Given the description of an element on the screen output the (x, y) to click on. 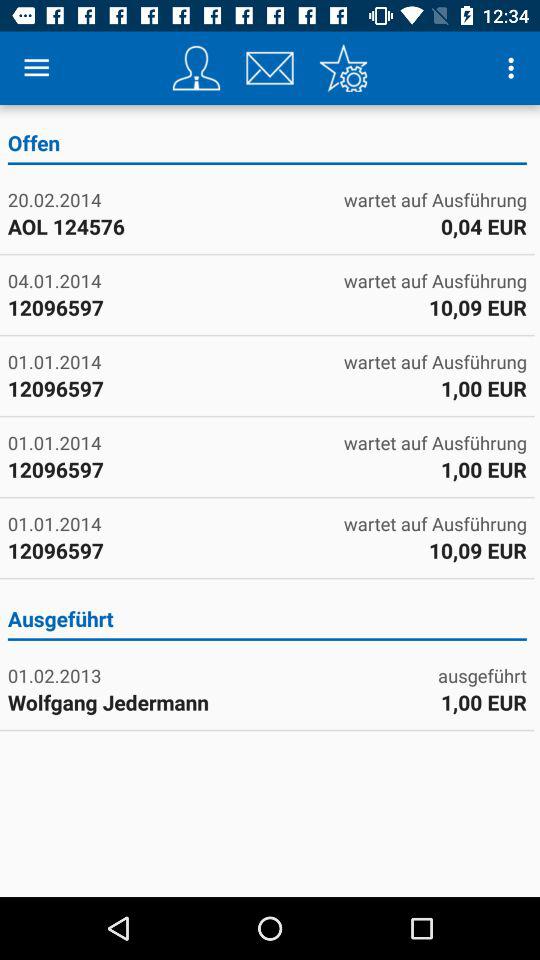
flip to offen (266, 146)
